Given the description of an element on the screen output the (x, y) to click on. 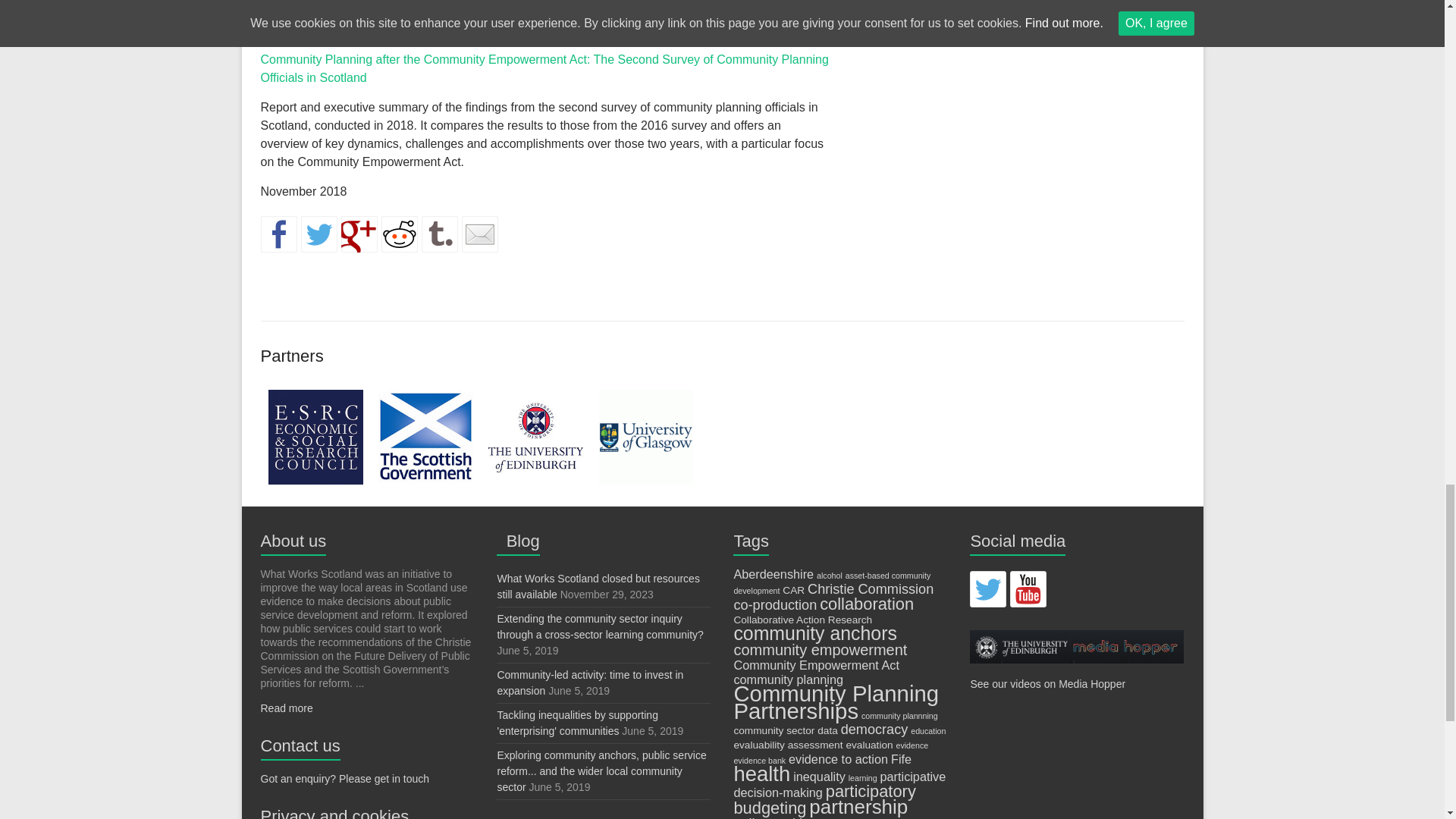
About us (293, 540)
Share on tumblr (440, 234)
Share on Twitter (317, 234)
Share on Reddit (398, 234)
Share by email (479, 234)
Follow us on Twitter (987, 588)
Share on Facebook (278, 234)
